Given the description of an element on the screen output the (x, y) to click on. 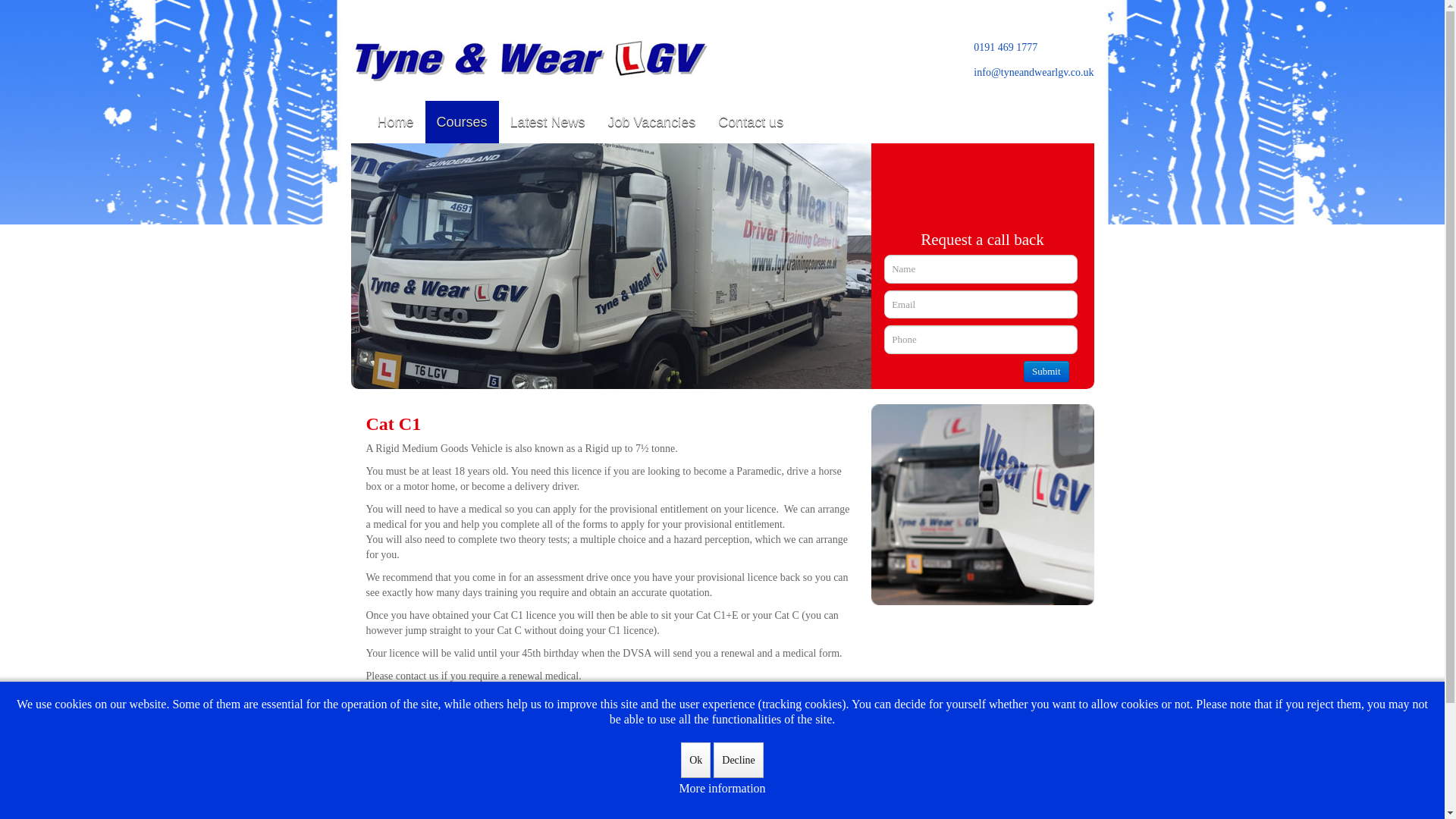
Job Vacancies (651, 121)
Latest News (547, 121)
Contact us (750, 121)
Submit (1045, 371)
Home (395, 121)
Submit (1045, 371)
Courses (462, 121)
